Given the description of an element on the screen output the (x, y) to click on. 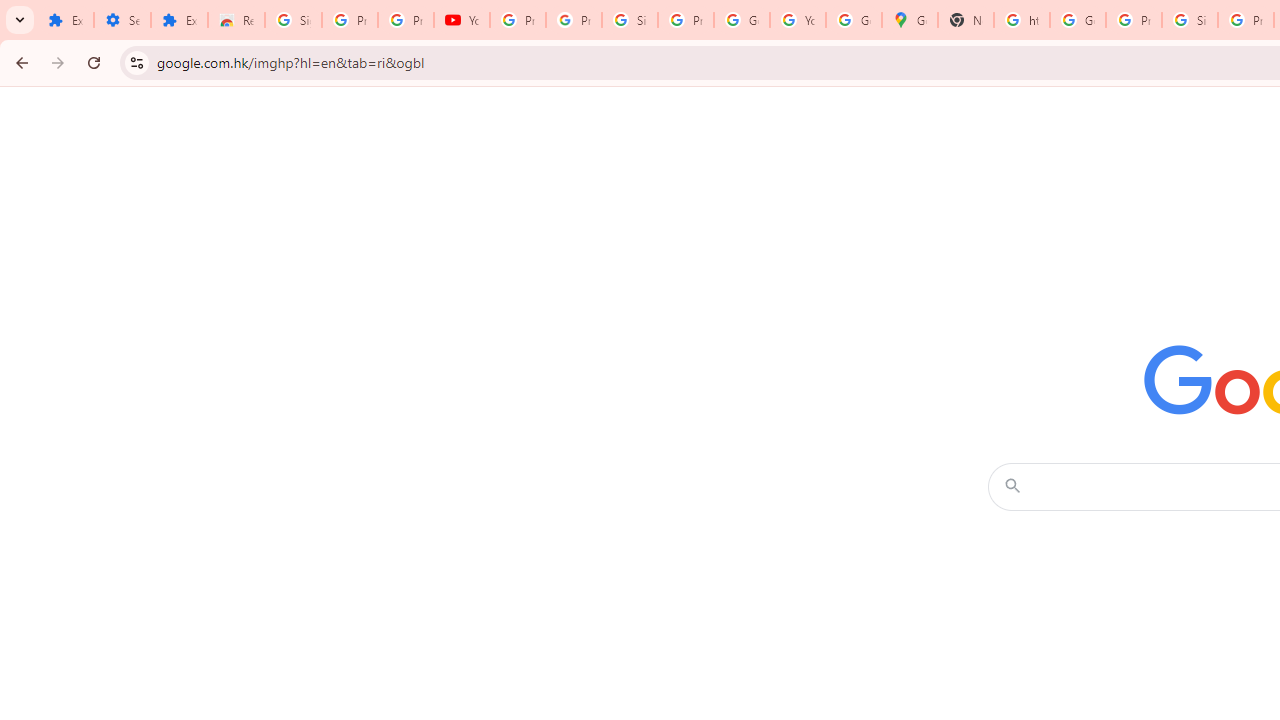
Extensions (179, 20)
Extensions (65, 20)
YouTube (461, 20)
Google Account (742, 20)
Sign in - Google Accounts (293, 20)
https://scholar.google.com/ (1021, 20)
Sign in - Google Accounts (1190, 20)
